Given the description of an element on the screen output the (x, y) to click on. 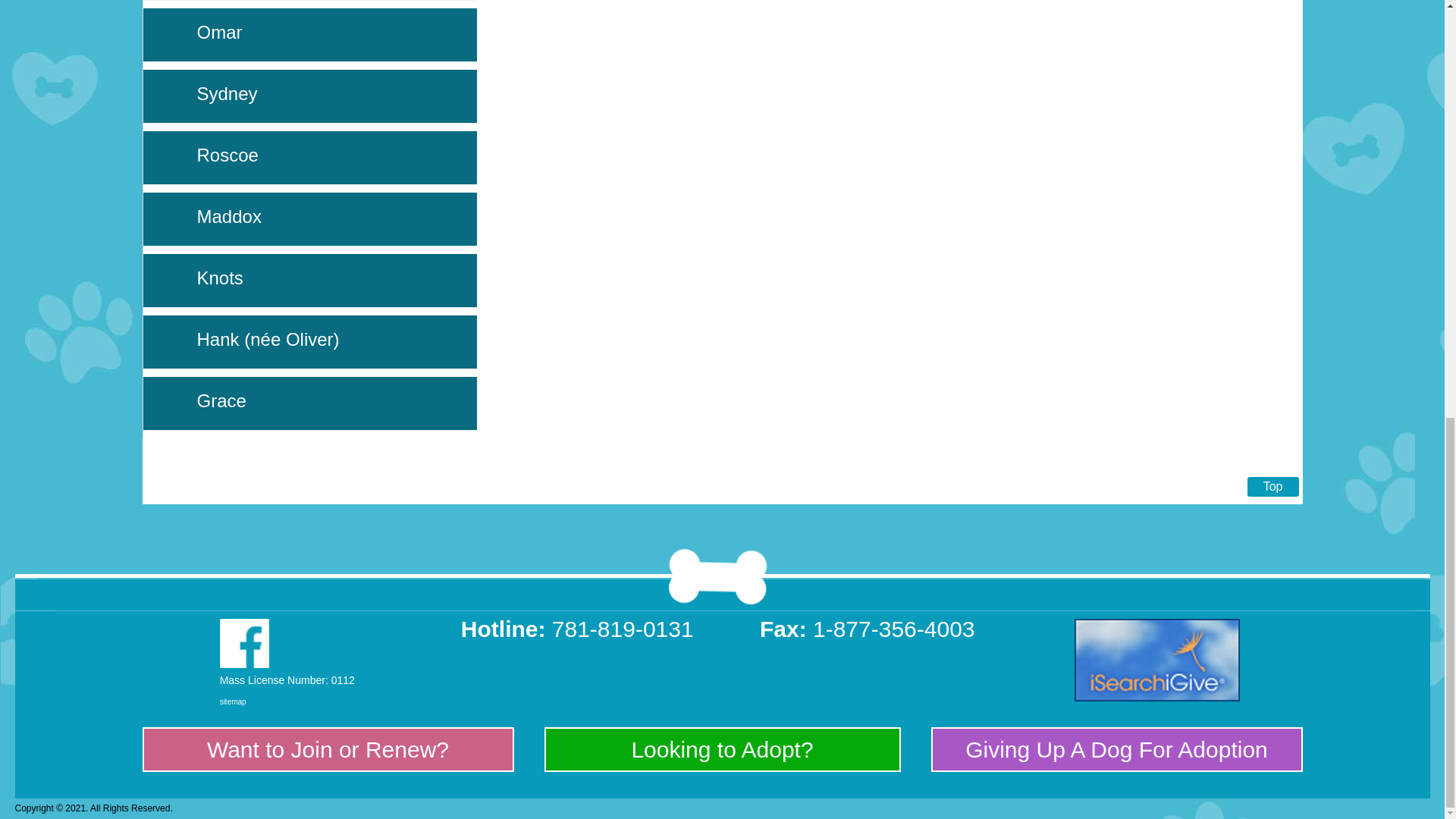
Sydney (226, 93)
Top (1272, 486)
Roscoe (227, 154)
Knots (219, 277)
Omar (219, 32)
sitemap (232, 701)
Maddox (229, 216)
Looking to Adopt? (721, 749)
Want to Join or Renew? (327, 749)
Grace (221, 400)
Giving Up A Dog For Adoption (1116, 749)
